Given the description of an element on the screen output the (x, y) to click on. 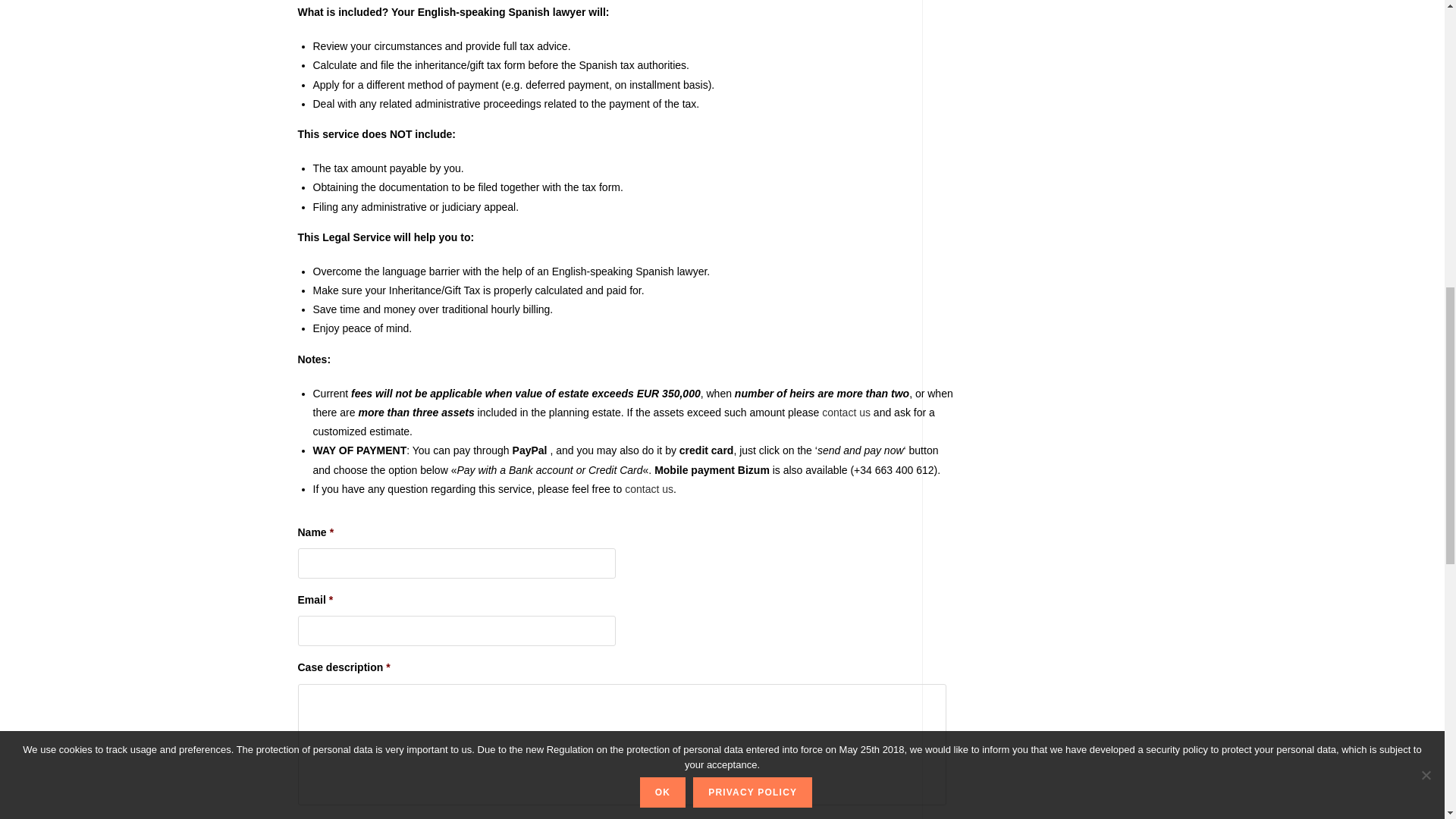
contact us (846, 412)
contact us (648, 489)
